Given the description of an element on the screen output the (x, y) to click on. 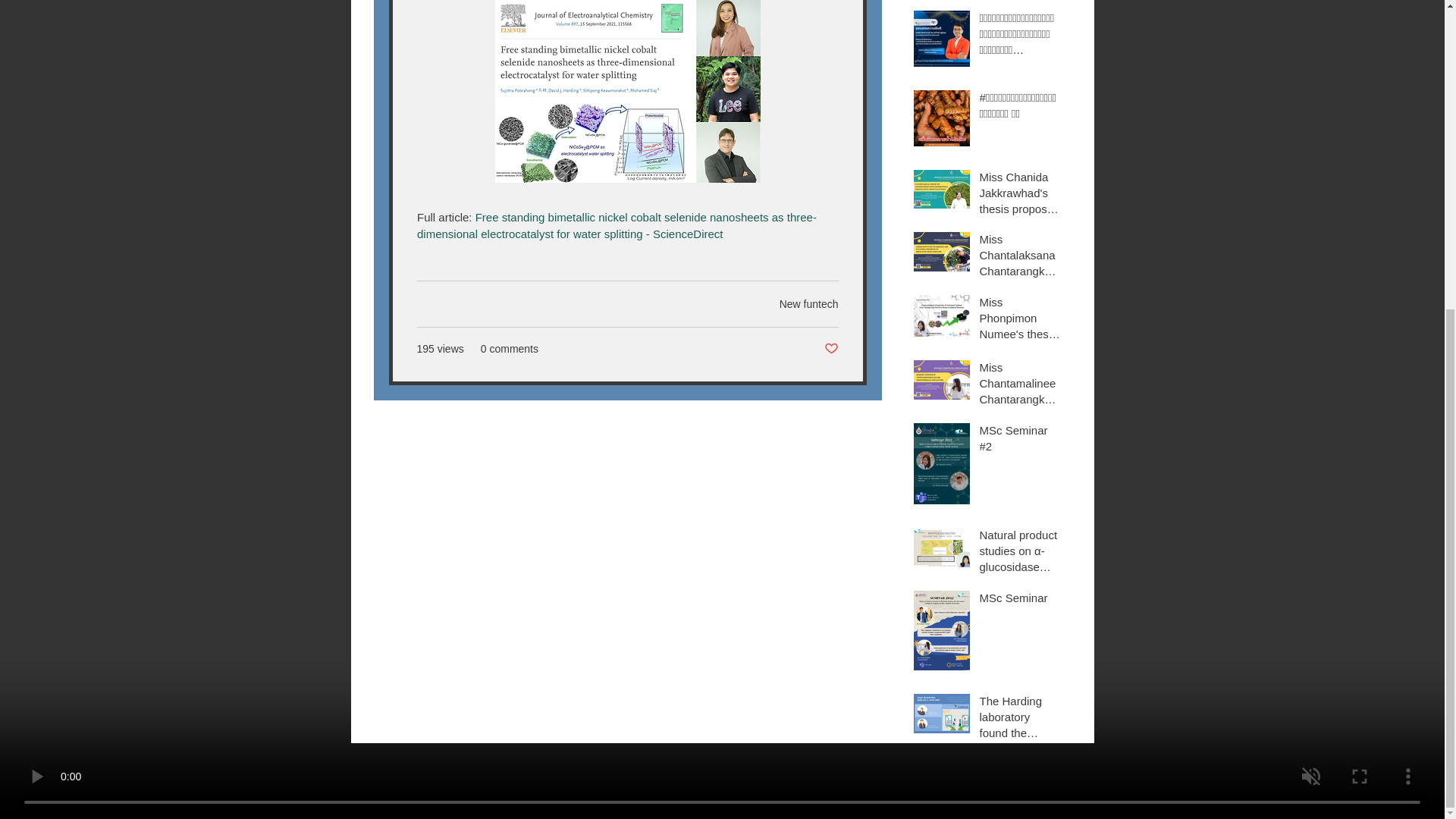
Miss Chantamalinee Chantarangkul's thesis proposal exam (1020, 386)
Miss Chantalaksana Chantarangkul's thesis proposal exam (1020, 257)
Miss Phonpimon Numee's thesis proposal exam (1020, 321)
MSc Seminar (1020, 600)
Miss Chanida Jakkrawhad's thesis proposal examination (1020, 195)
New funtech (808, 304)
Post not marked as liked (831, 349)
